Given the description of an element on the screen output the (x, y) to click on. 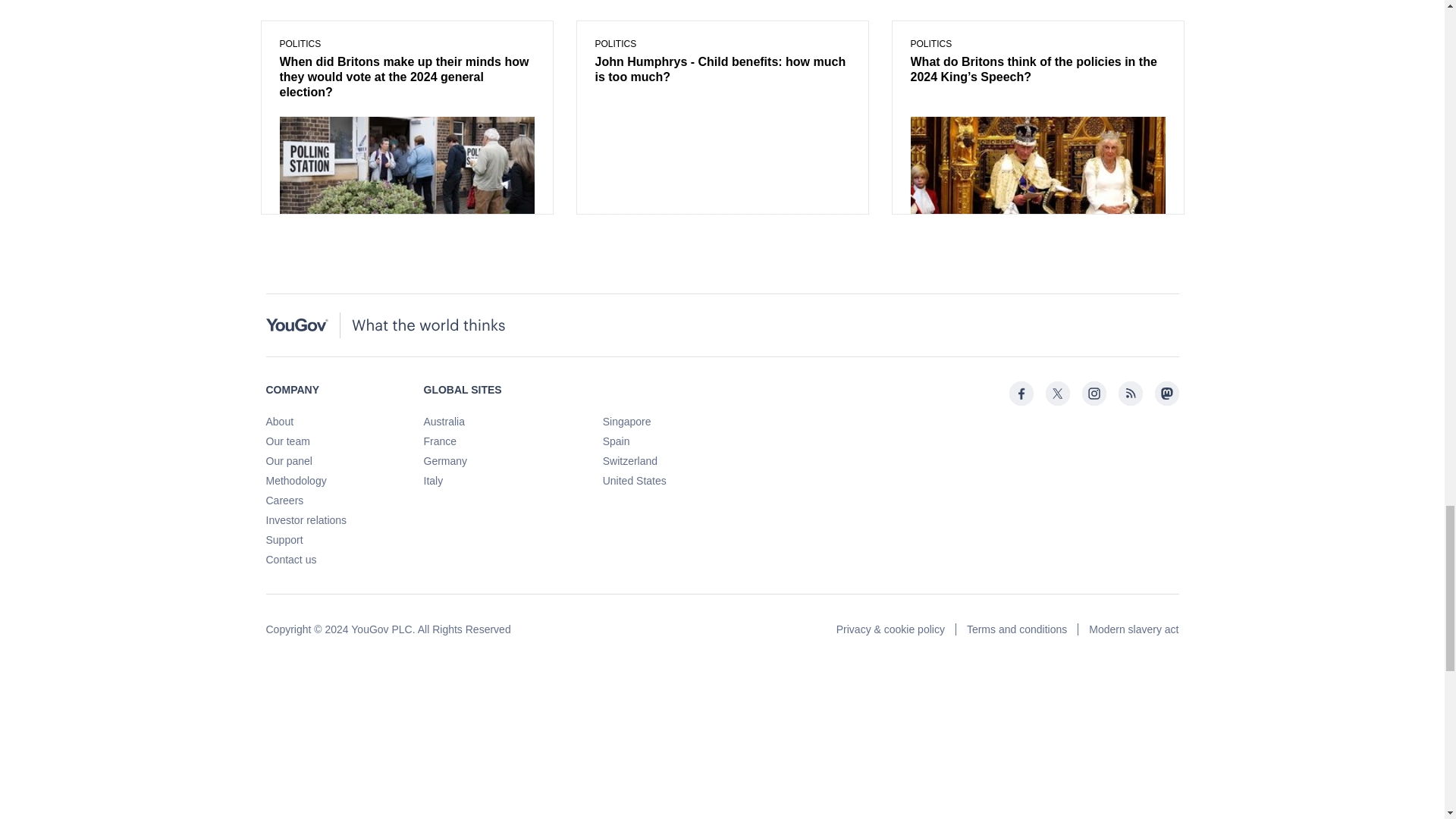
John Humphrys - Child benefits: how much is too much? (721, 70)
